Given the description of an element on the screen output the (x, y) to click on. 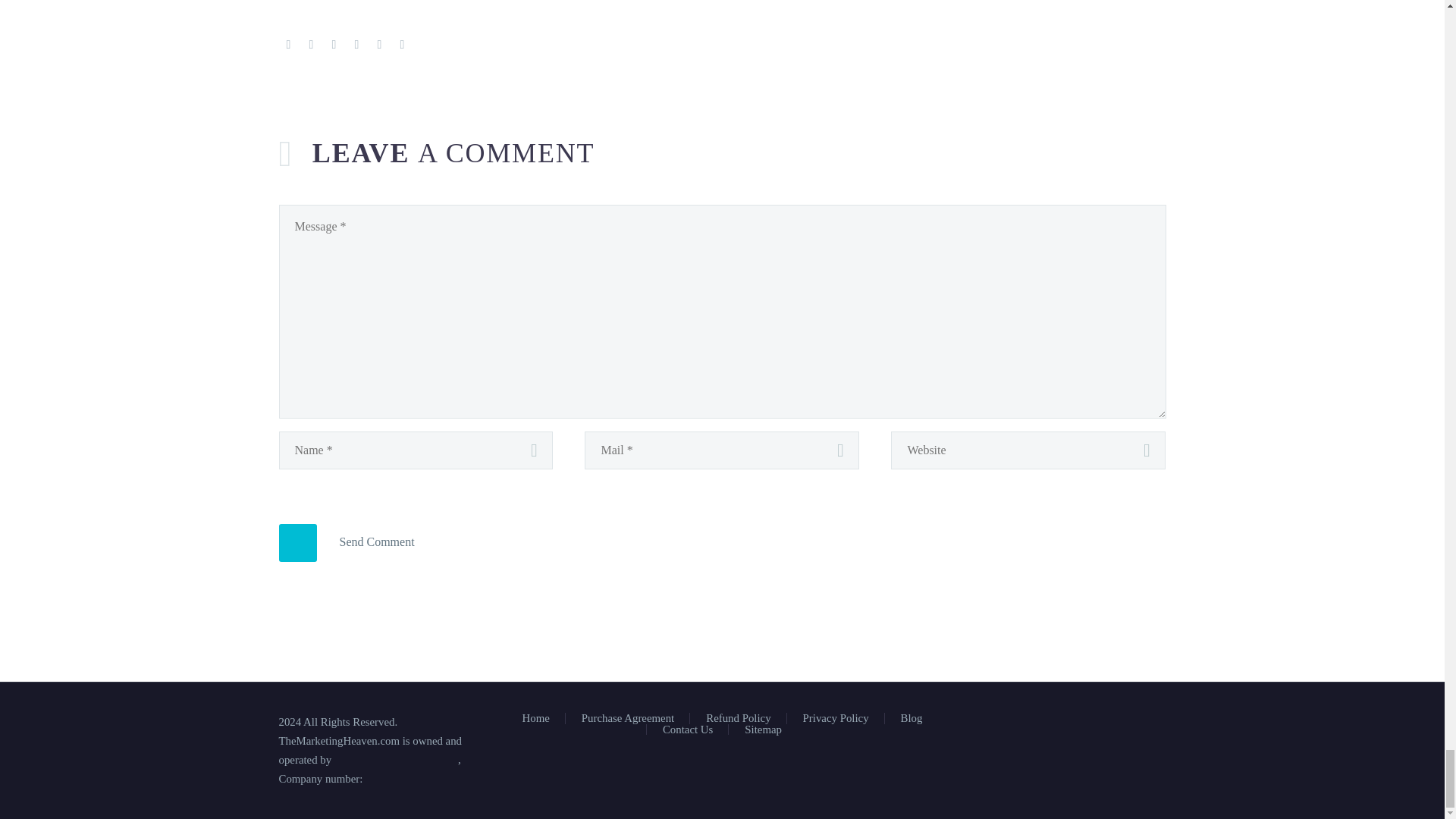
Reddit (401, 44)
LinkedIn (378, 44)
Twitter (310, 44)
Pinterest (333, 44)
Facebook (288, 44)
Tumblr (356, 44)
